Given the description of an element on the screen output the (x, y) to click on. 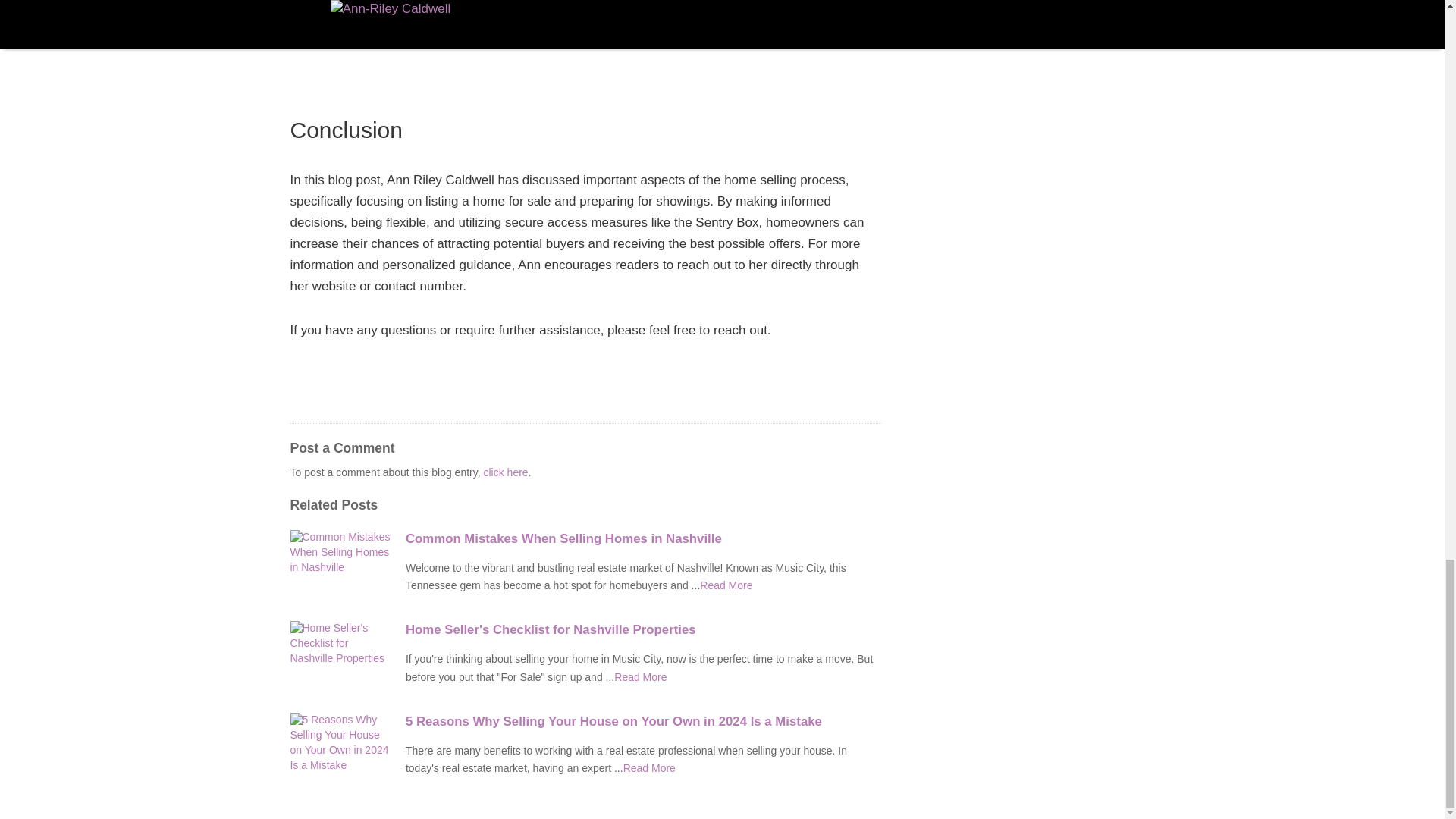
Listing and Showing Your Property in Nashville, TN (726, 585)
Common Mistakes When Selling Homes in Nashville (643, 538)
Listing and Showing Your Property in Nashville, TN (649, 767)
Home Seller's Checklist for Nashville Properties (643, 629)
Listing and Showing Your Property in Nashville, TN (640, 676)
